Given the description of an element on the screen output the (x, y) to click on. 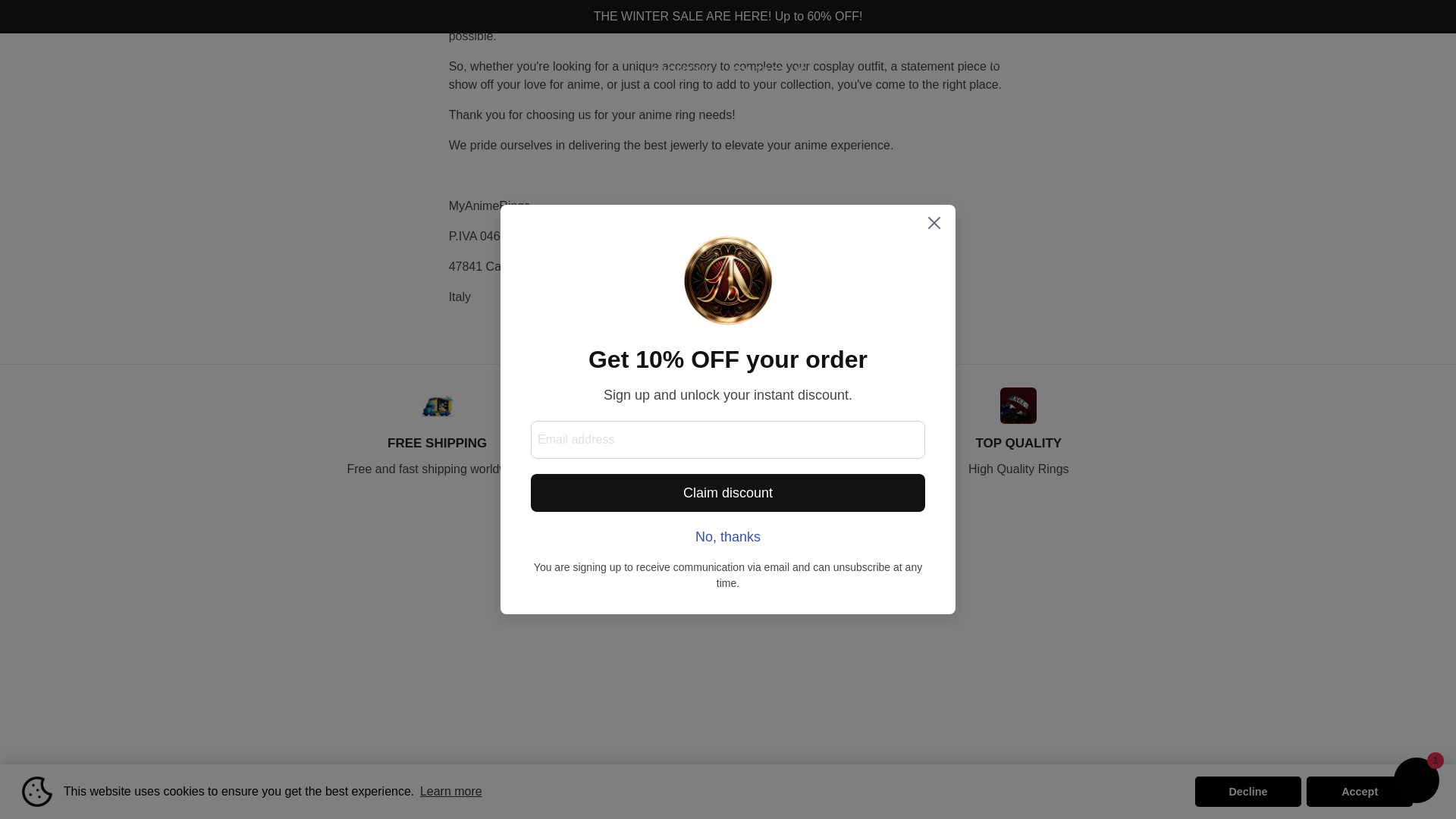
Mastercard (1031, 789)
Shopify online store chat (1416, 430)
PayPal (1059, 789)
Visa (1142, 789)
Google Pay (974, 789)
Union Pay (1114, 789)
Decline (1248, 440)
Shop Pay (1085, 789)
Maestro (1003, 789)
Accept (1359, 440)
Apple Pay (948, 789)
American Express (920, 789)
Learn more (450, 439)
